Given the description of an element on the screen output the (x, y) to click on. 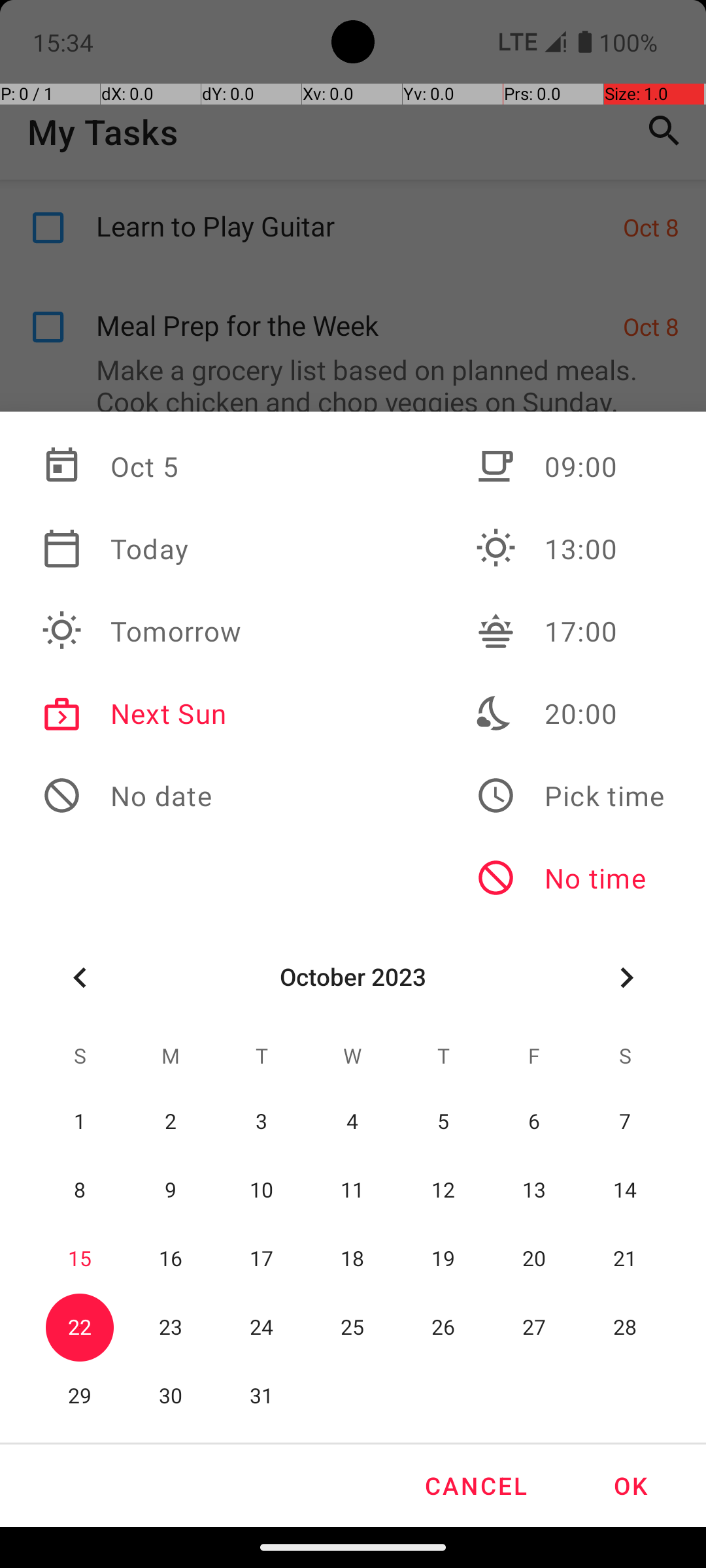
Oct 5 Element type: android.widget.CompoundButton (141, 466)
